Given the description of an element on the screen output the (x, y) to click on. 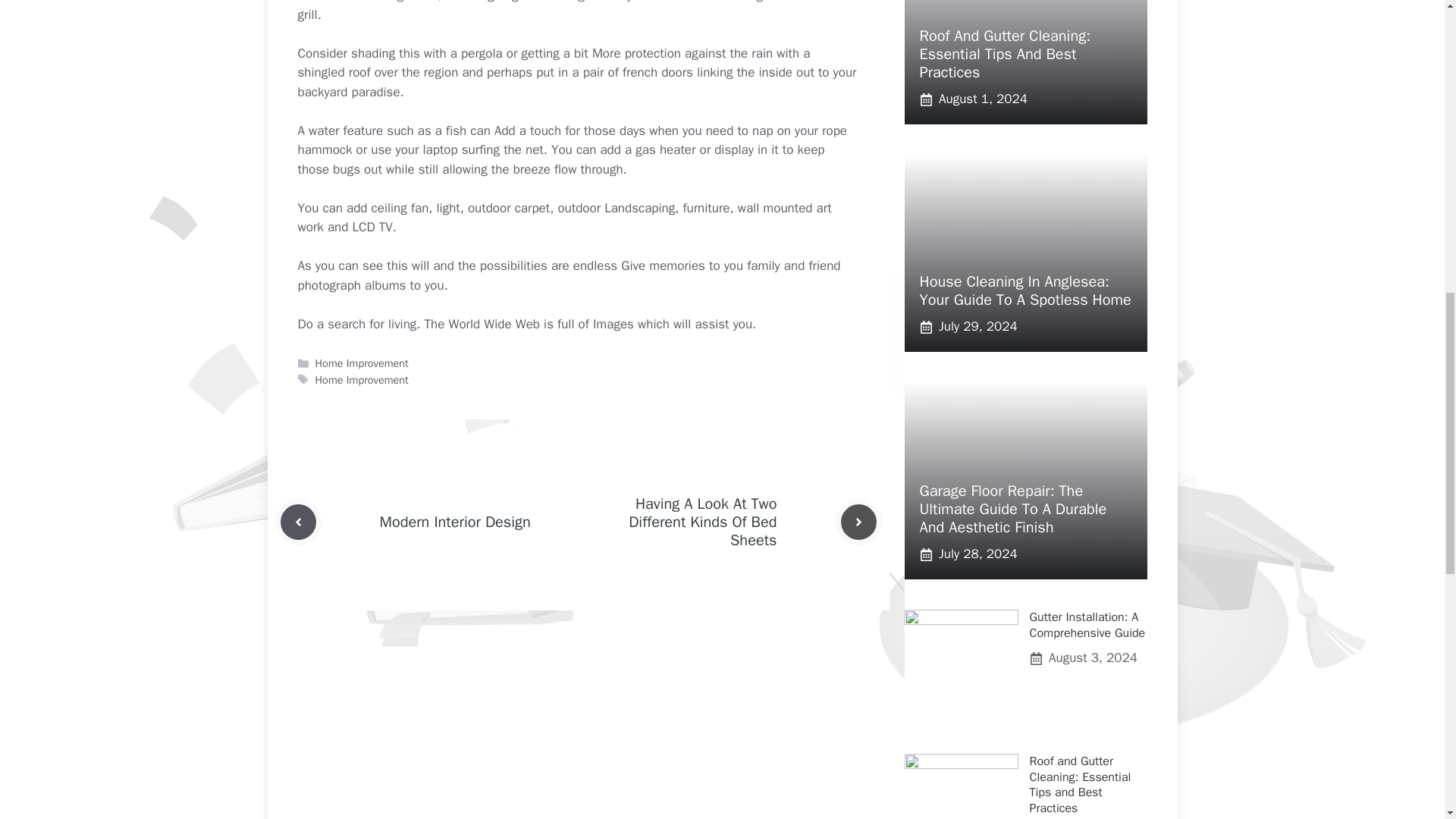
deck (660, 1)
Home Improvement (362, 363)
Roof and Gutter Cleaning: Essential Tips and Best Practices (1080, 784)
Having A Look At Two Different Kinds Of Bed Sheets (702, 521)
House Cleaning In Anglesea: Your Guide To A Spotless Home (1024, 290)
Scroll back to top (1406, 720)
Modern Interior Design (453, 521)
Home Improvement (362, 379)
Gutter Installation: A Comprehensive Guide (1087, 624)
